Given the description of an element on the screen output the (x, y) to click on. 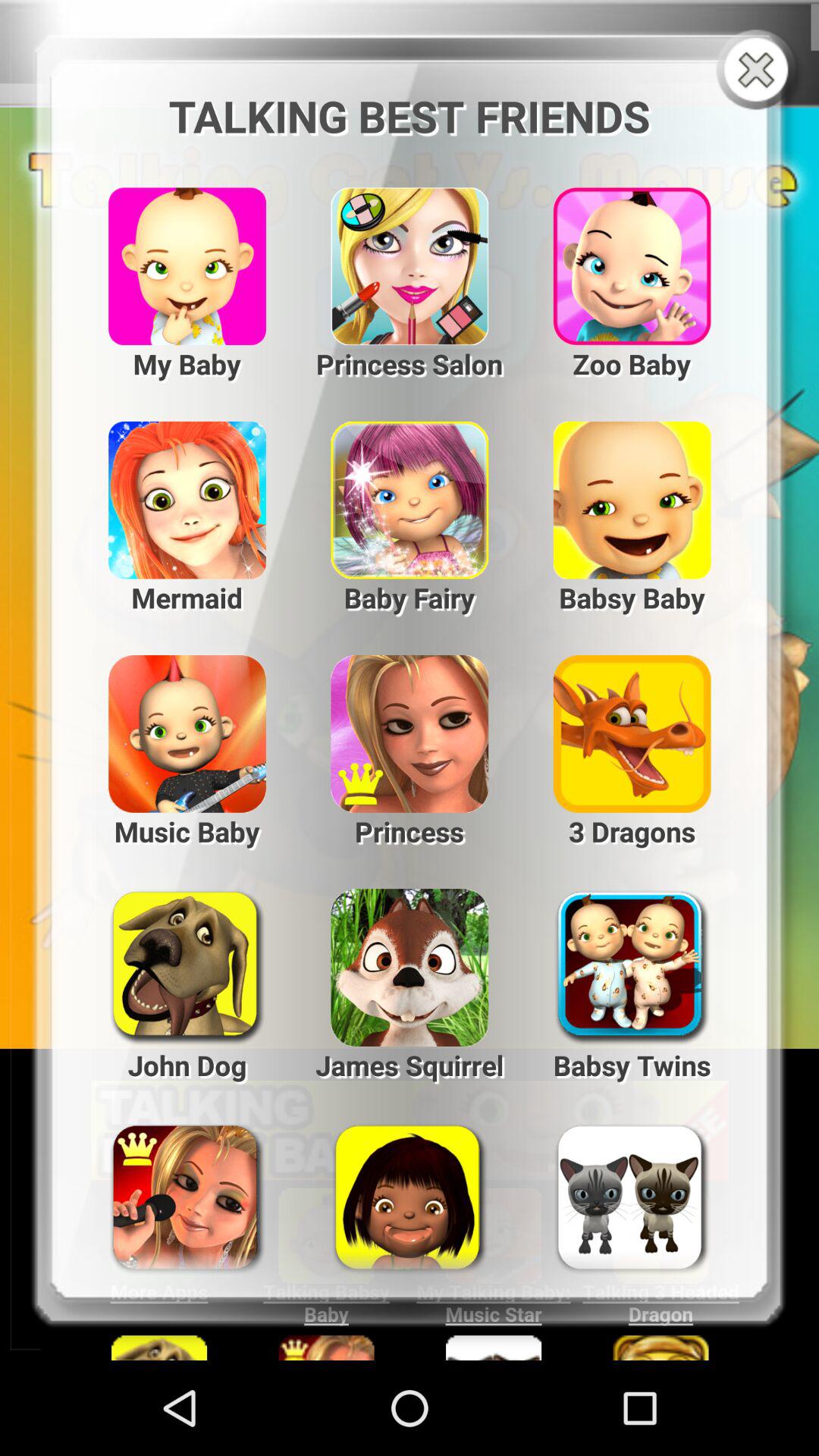
close the popup (759, 71)
